Given the description of an element on the screen output the (x, y) to click on. 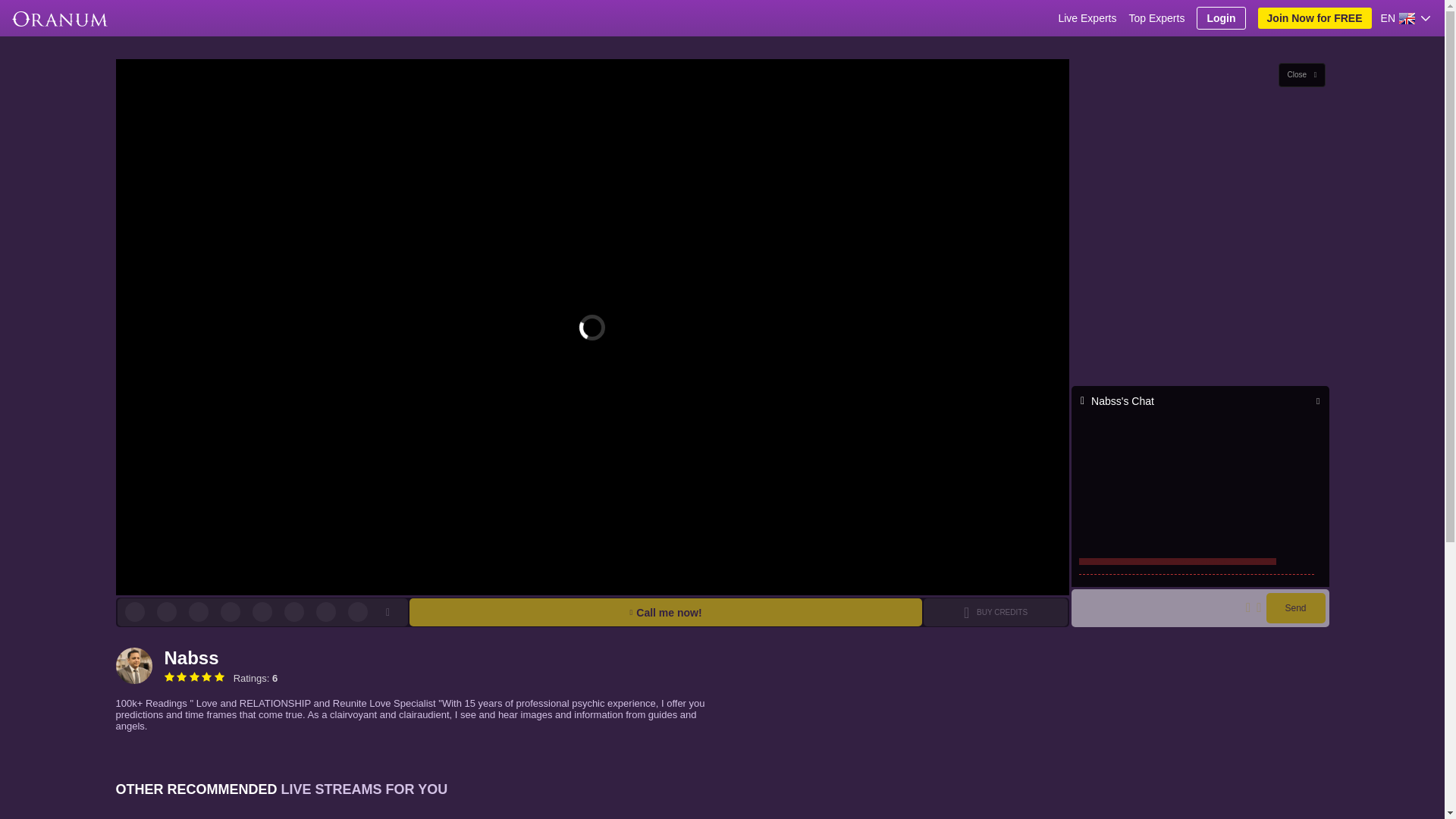
Top Experts (1156, 18)
Login (1220, 17)
Join Now for FREE (1314, 17)
Live Experts (1087, 18)
